Given the description of an element on the screen output the (x, y) to click on. 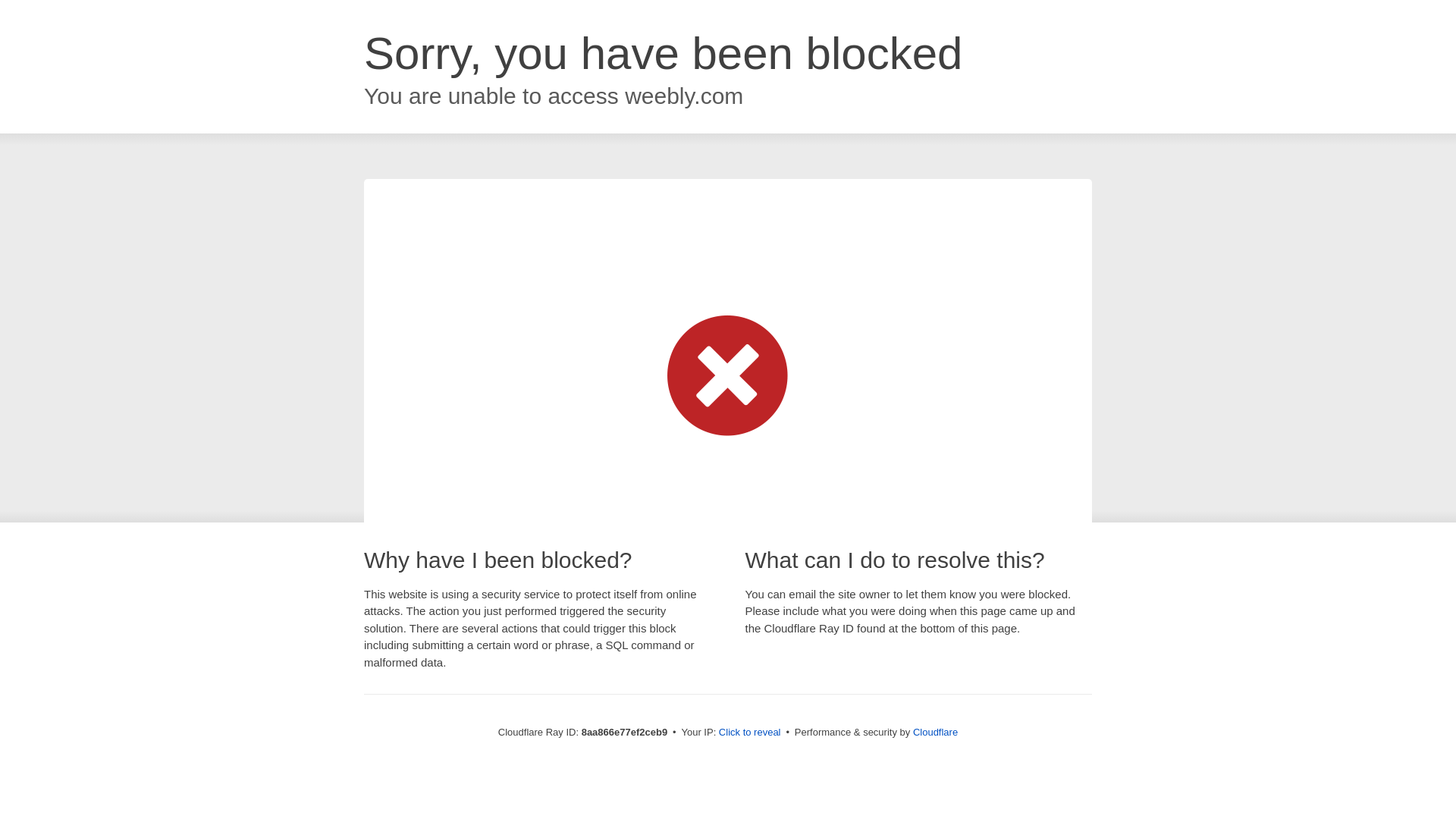
Click to reveal (749, 732)
Cloudflare (935, 731)
